Given the description of an element on the screen output the (x, y) to click on. 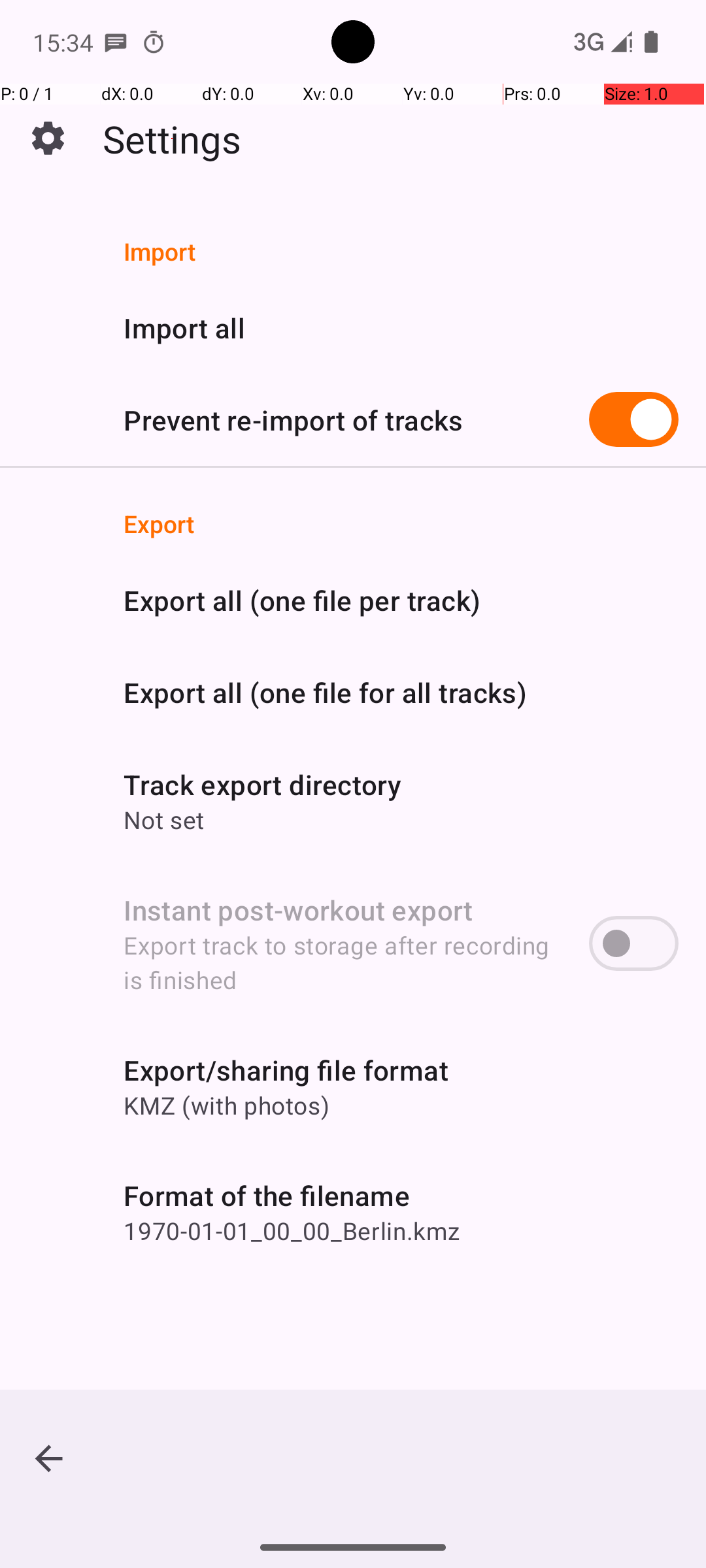
Import Element type: android.widget.TextView (400, 250)
Import all Element type: android.widget.TextView (184, 327)
Prevent re-import of tracks Element type: android.widget.TextView (293, 419)
Export Element type: android.widget.TextView (400, 523)
Export all (one file per track) Element type: android.widget.TextView (302, 599)
Export all (one file for all tracks) Element type: android.widget.TextView (325, 691)
Track export directory Element type: android.widget.TextView (262, 783)
Not set Element type: android.widget.TextView (163, 819)
Instant post-workout export Element type: android.widget.TextView (298, 909)
Export track to storage after recording is finished Element type: android.widget.TextView (342, 962)
Export/sharing file format Element type: android.widget.TextView (285, 1069)
KMZ (with photos) Element type: android.widget.TextView (226, 1104)
Format of the filename Element type: android.widget.TextView (266, 1194)
1970-01-01_00_00_Berlin.kmz Element type: android.widget.TextView (291, 1230)
